Given the description of an element on the screen output the (x, y) to click on. 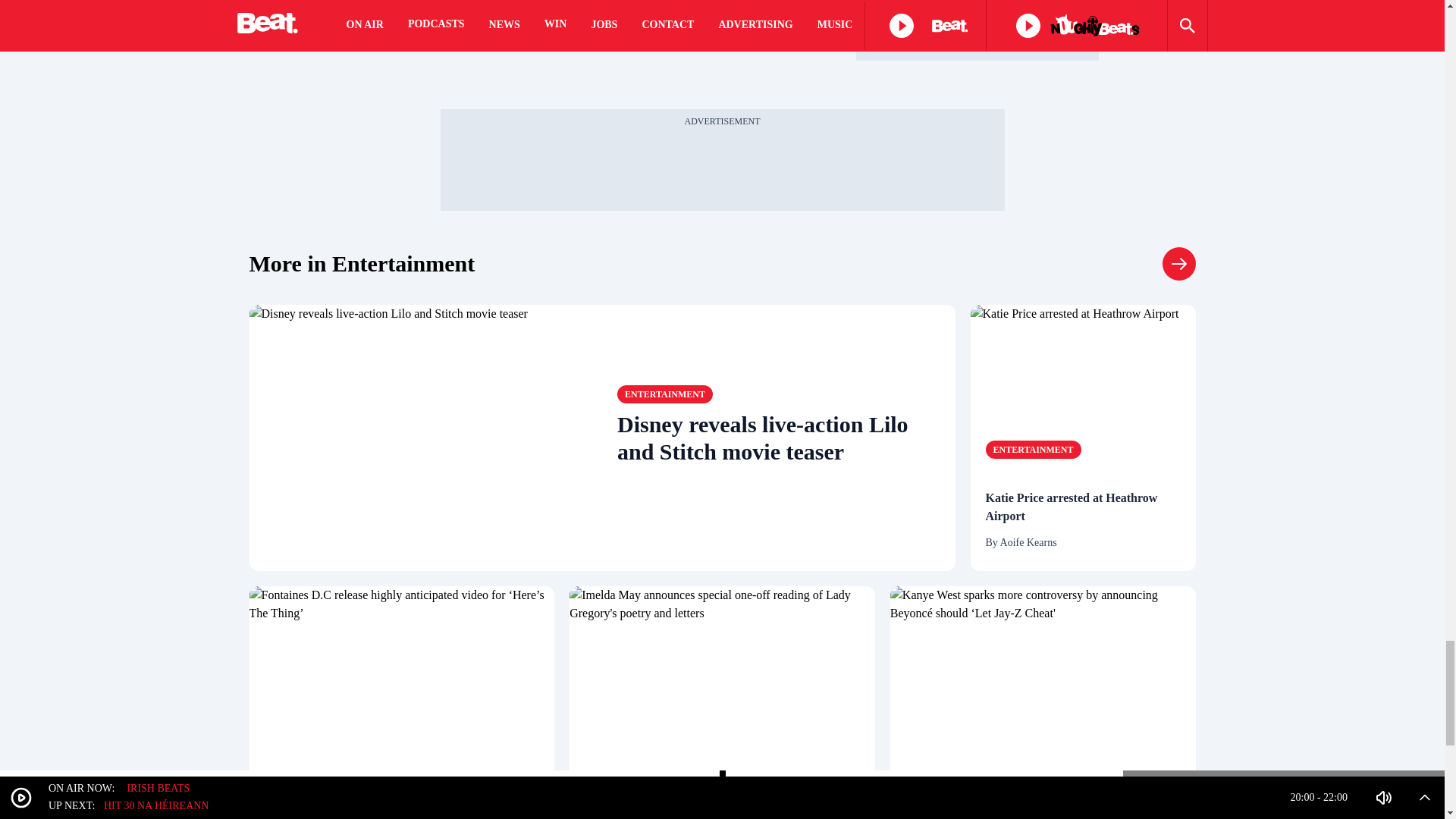
Katie Price arrested at Heathrow Airport (1082, 506)
Entertainment (361, 263)
Entertainment (1033, 449)
Entertainment (665, 393)
Entertainment (311, 791)
Disney reveals live-action Lilo and Stitch movie teaser (778, 438)
Disney reveals live-action Lilo and Stitch movie teaser (425, 437)
Entertainment (1178, 263)
